Given the description of an element on the screen output the (x, y) to click on. 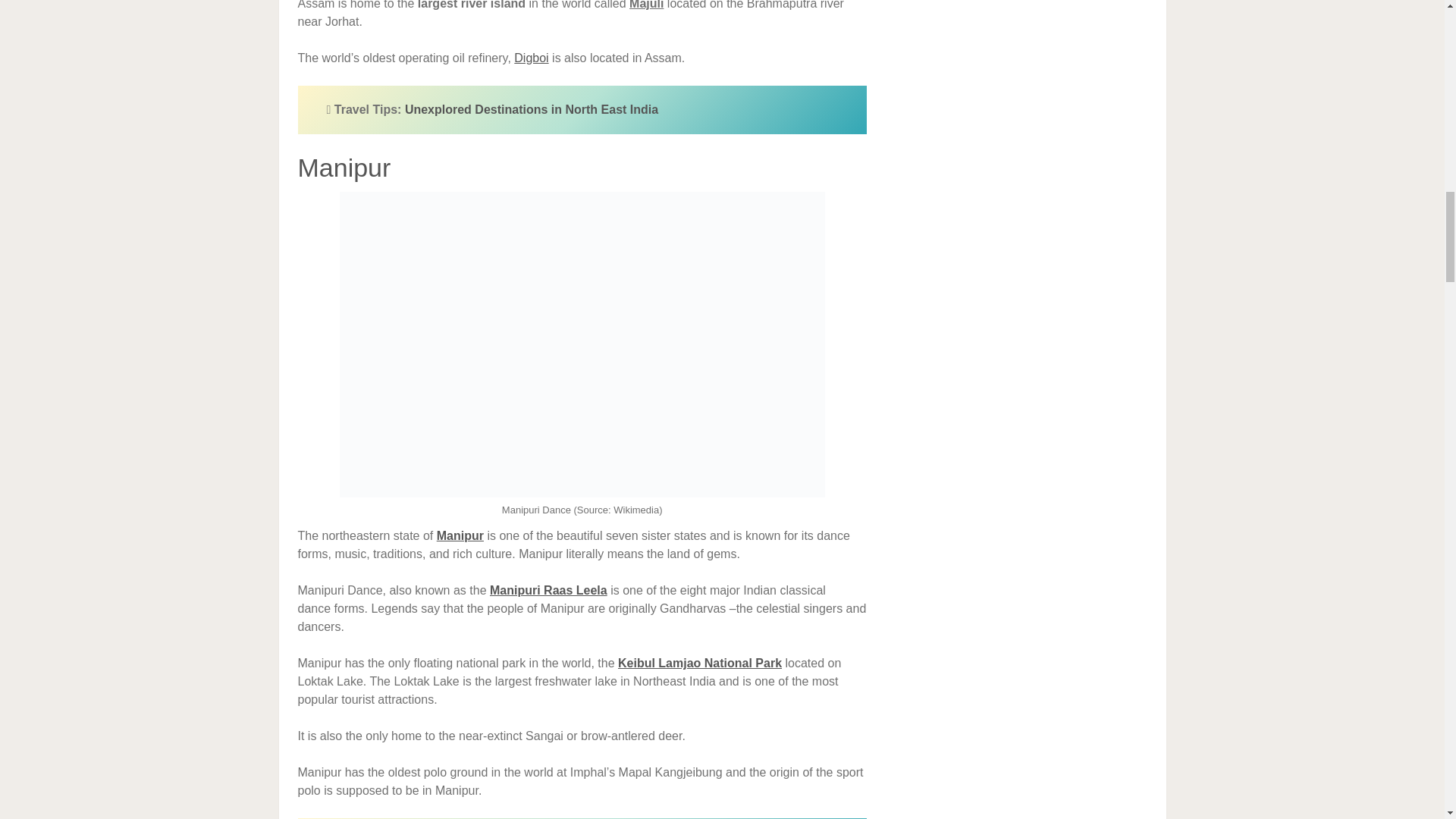
Manipur (459, 535)
Keibul Lamjao National Park (699, 662)
Unexplored Destinations in North East India (531, 109)
Digboi (530, 57)
Manipuri Raas Leela (548, 590)
